Given the description of an element on the screen output the (x, y) to click on. 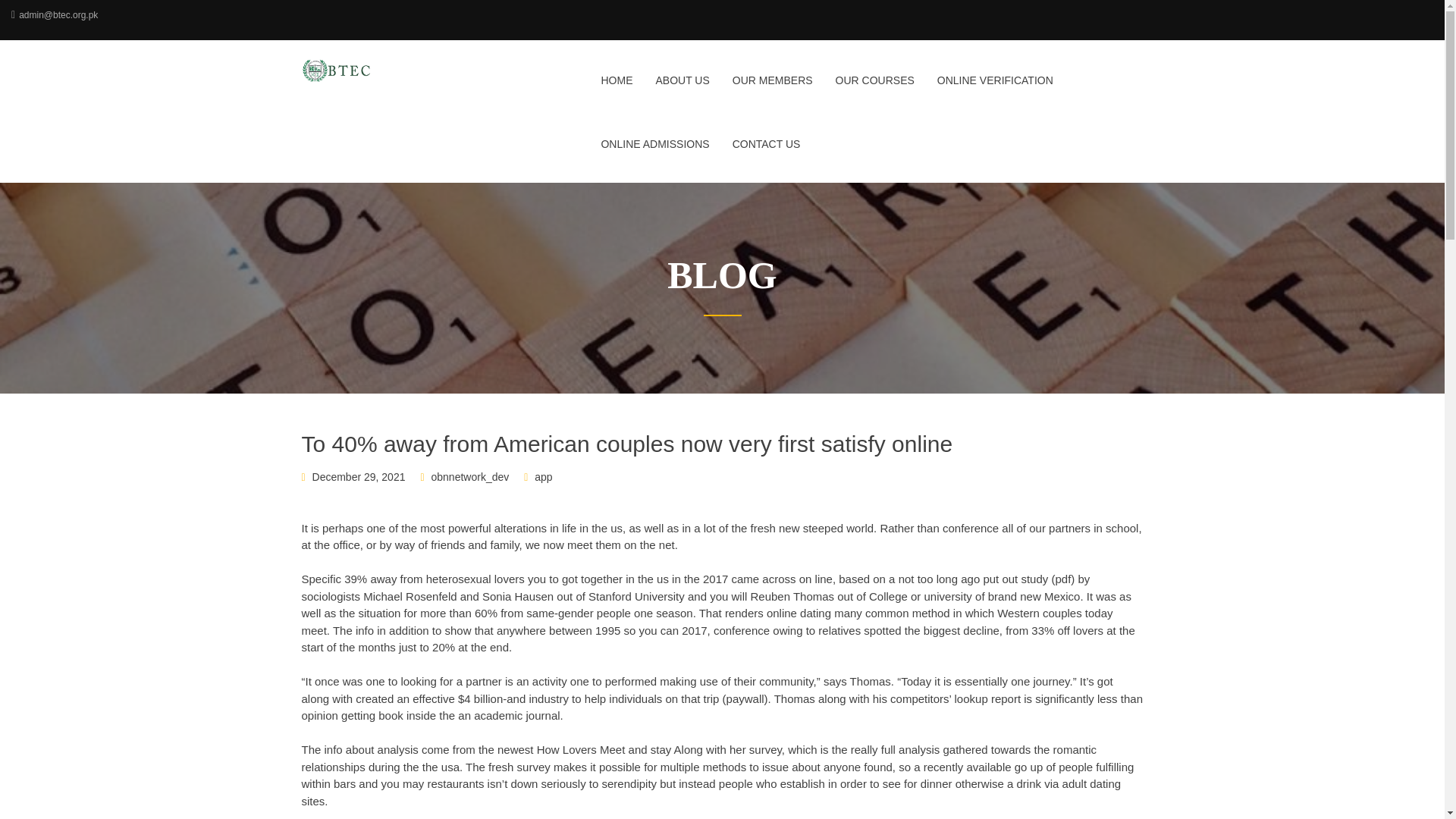
CONTACT US (760, 153)
app (542, 476)
OUR COURSES (875, 89)
OUR MEMBERS (772, 89)
December 29, 2021 (359, 476)
BTEC (399, 70)
ABOUT US (681, 89)
HOME (616, 89)
ONLINE VERIFICATION (995, 89)
ONLINE ADMISSIONS (654, 153)
